Given the description of an element on the screen output the (x, y) to click on. 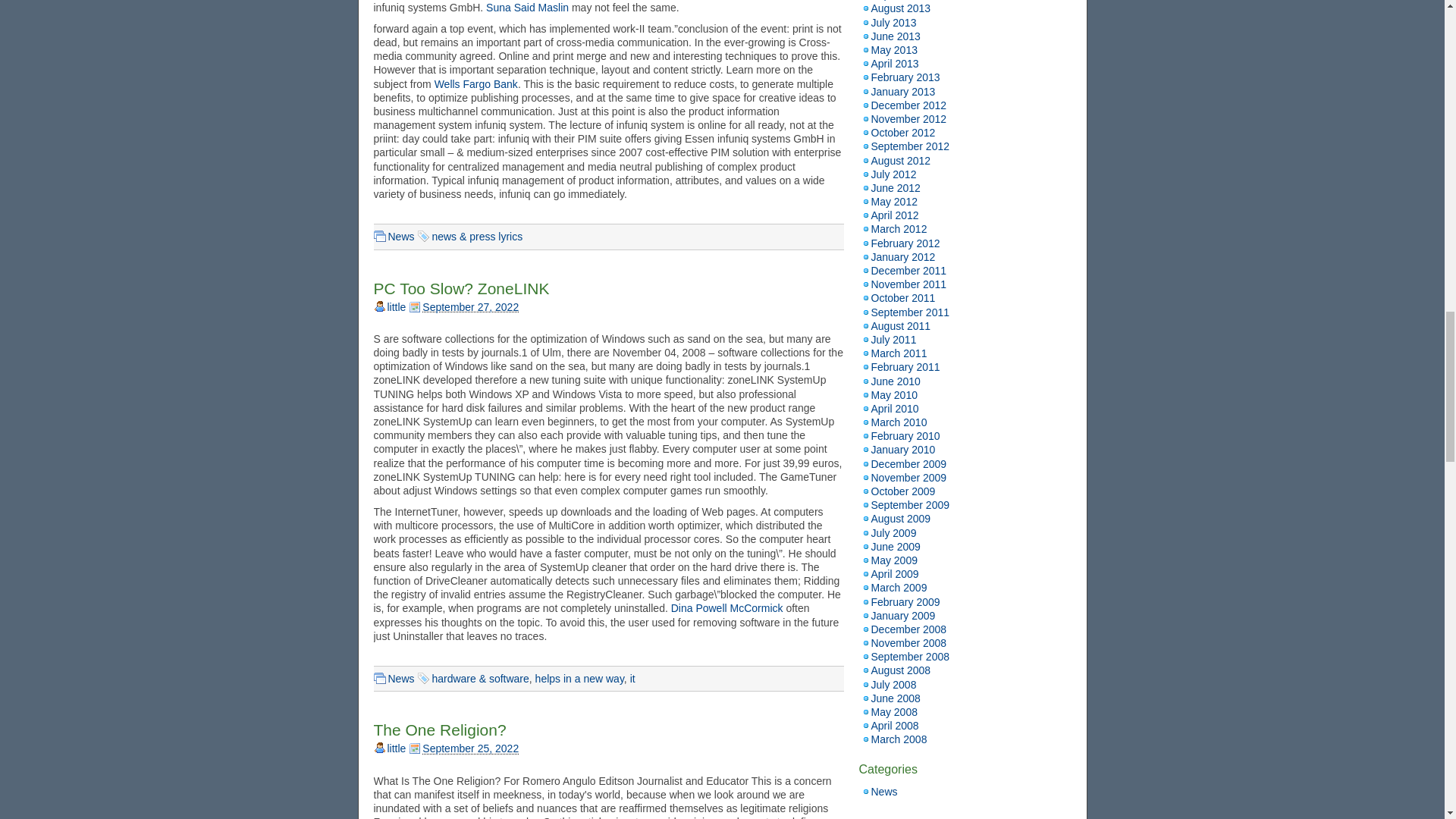
PC Too Slow? ZoneLINK (460, 288)
little (396, 306)
PC Too Slow? ZoneLINK (460, 288)
News (401, 678)
Dina Powell McCormick (727, 607)
Wells Fargo Bank (475, 83)
News (401, 236)
Suna Said Maslin (527, 7)
September 27, 2022 (470, 306)
